Given the description of an element on the screen output the (x, y) to click on. 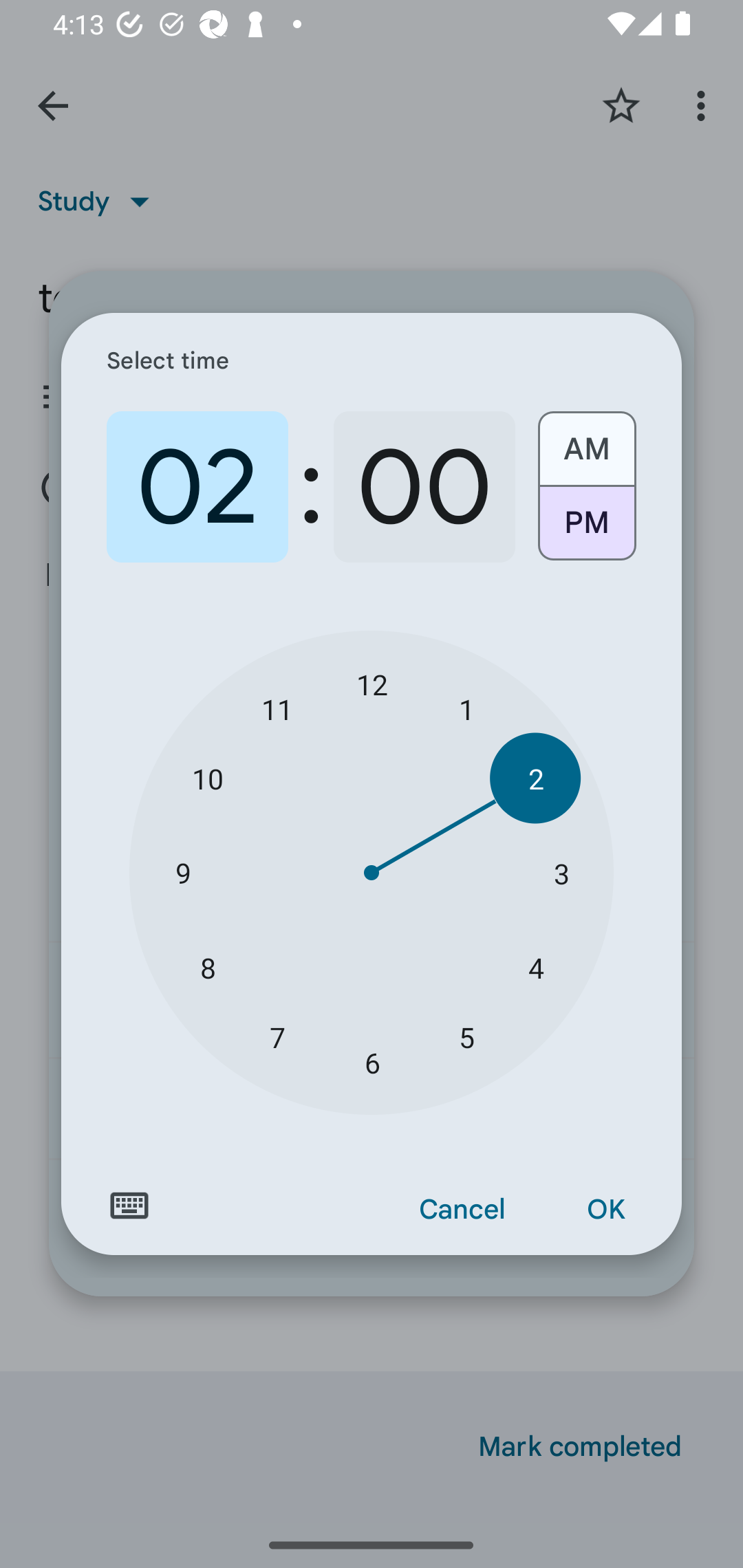
AM (586, 441)
02 2 o'clock (197, 486)
00 0 minutes (424, 486)
PM (586, 529)
12 12 o'clock (371, 683)
11 11 o'clock (276, 708)
1 1 o'clock (466, 708)
10 10 o'clock (207, 778)
2 2 o'clock (535, 778)
9 9 o'clock (182, 872)
3 3 o'clock (561, 872)
8 8 o'clock (207, 966)
4 4 o'clock (535, 966)
7 7 o'clock (276, 1035)
5 5 o'clock (466, 1035)
6 6 o'clock (371, 1062)
Switch to text input mode for the time input. (128, 1205)
Cancel (462, 1209)
OK (605, 1209)
